Given the description of an element on the screen output the (x, y) to click on. 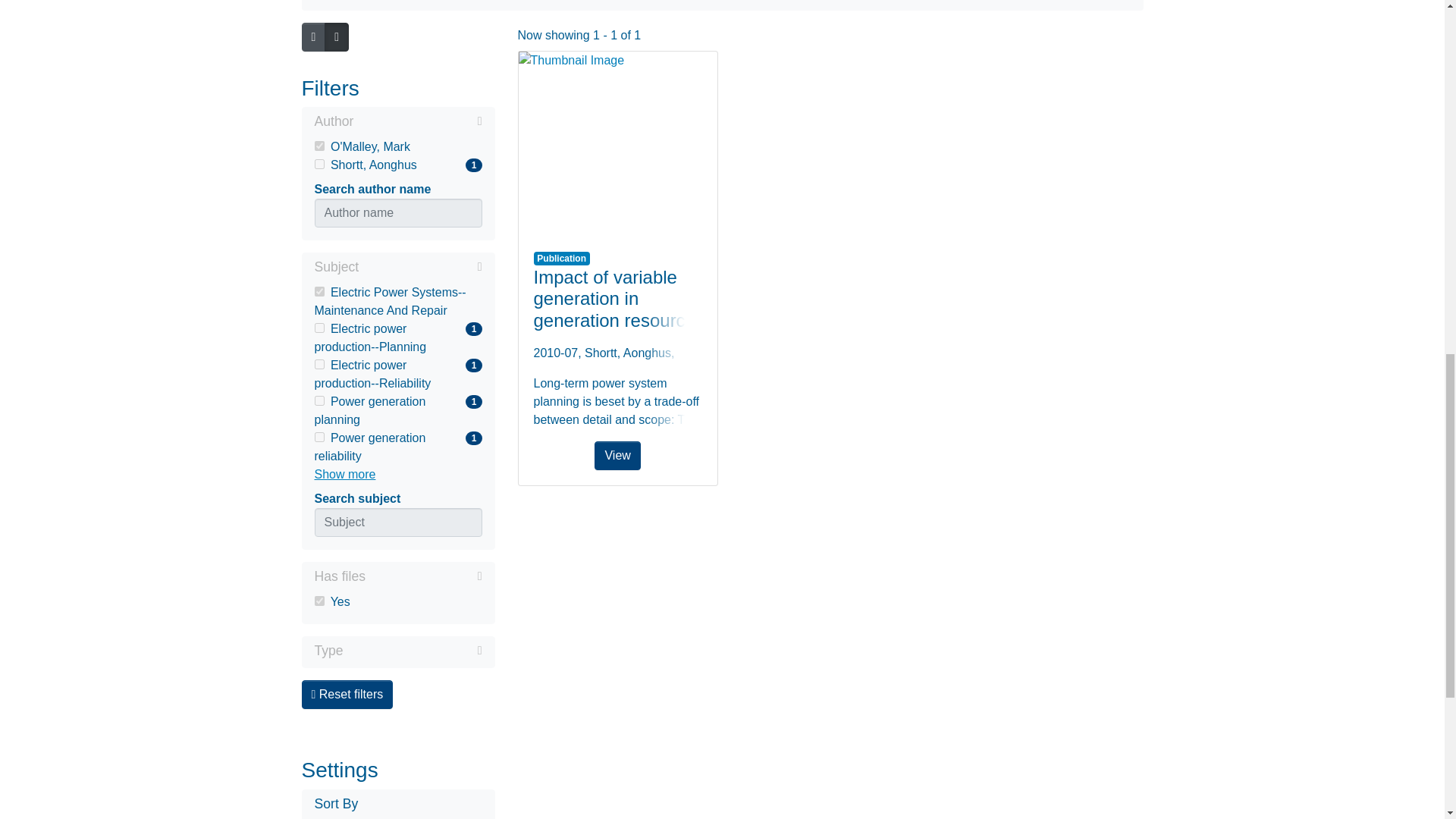
on (318, 364)
on (397, 411)
on (318, 400)
on (318, 163)
Subject (318, 145)
on (397, 268)
on (318, 327)
on (397, 338)
View (318, 601)
on (318, 291)
Collapse filter (397, 165)
